Given the description of an element on the screen output the (x, y) to click on. 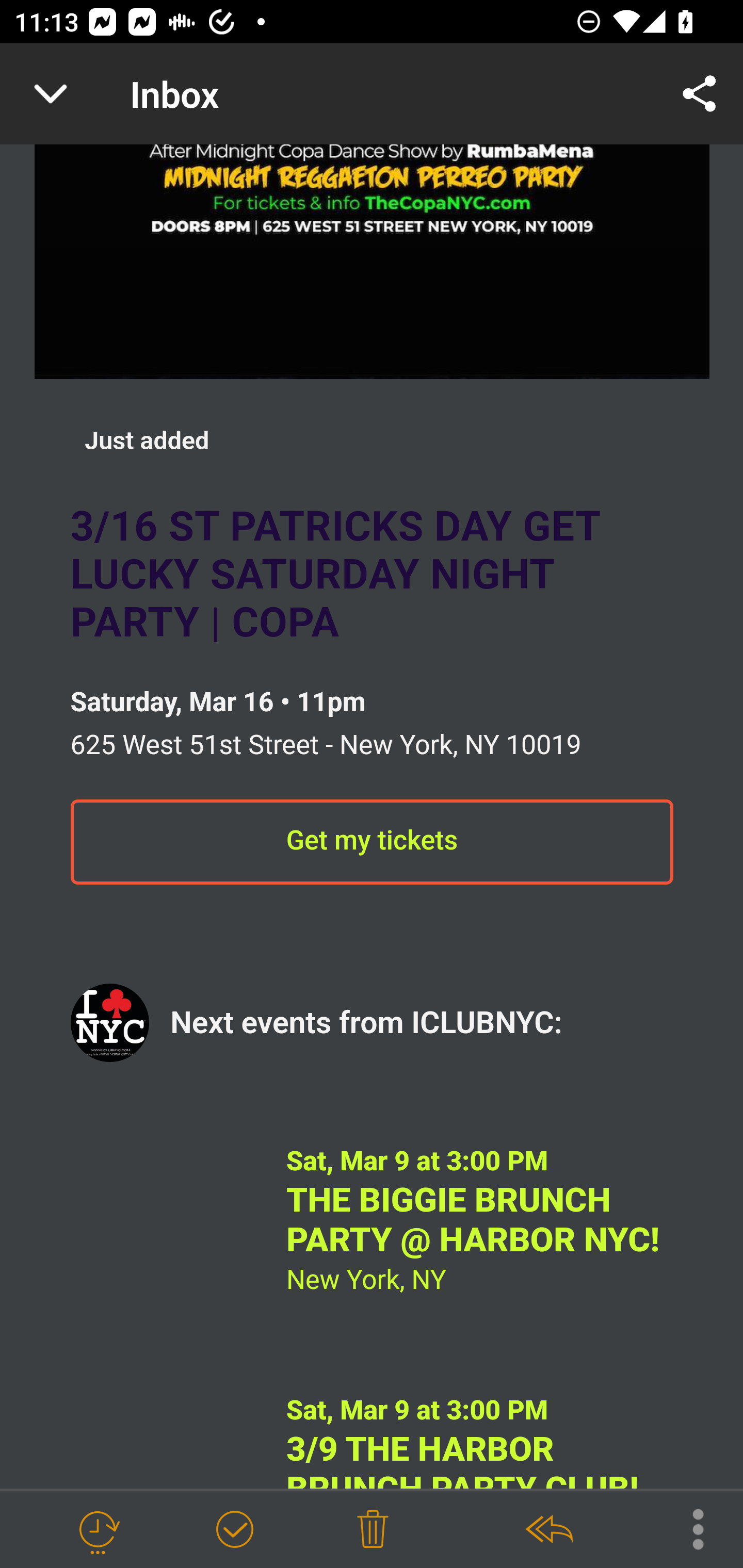
Navigate up (50, 93)
Share (699, 93)
Get my tickets (371, 842)
More Options (687, 1528)
Snooze (97, 1529)
Mark as Done (234, 1529)
Delete (372, 1529)
Reply All (548, 1529)
